Given the description of an element on the screen output the (x, y) to click on. 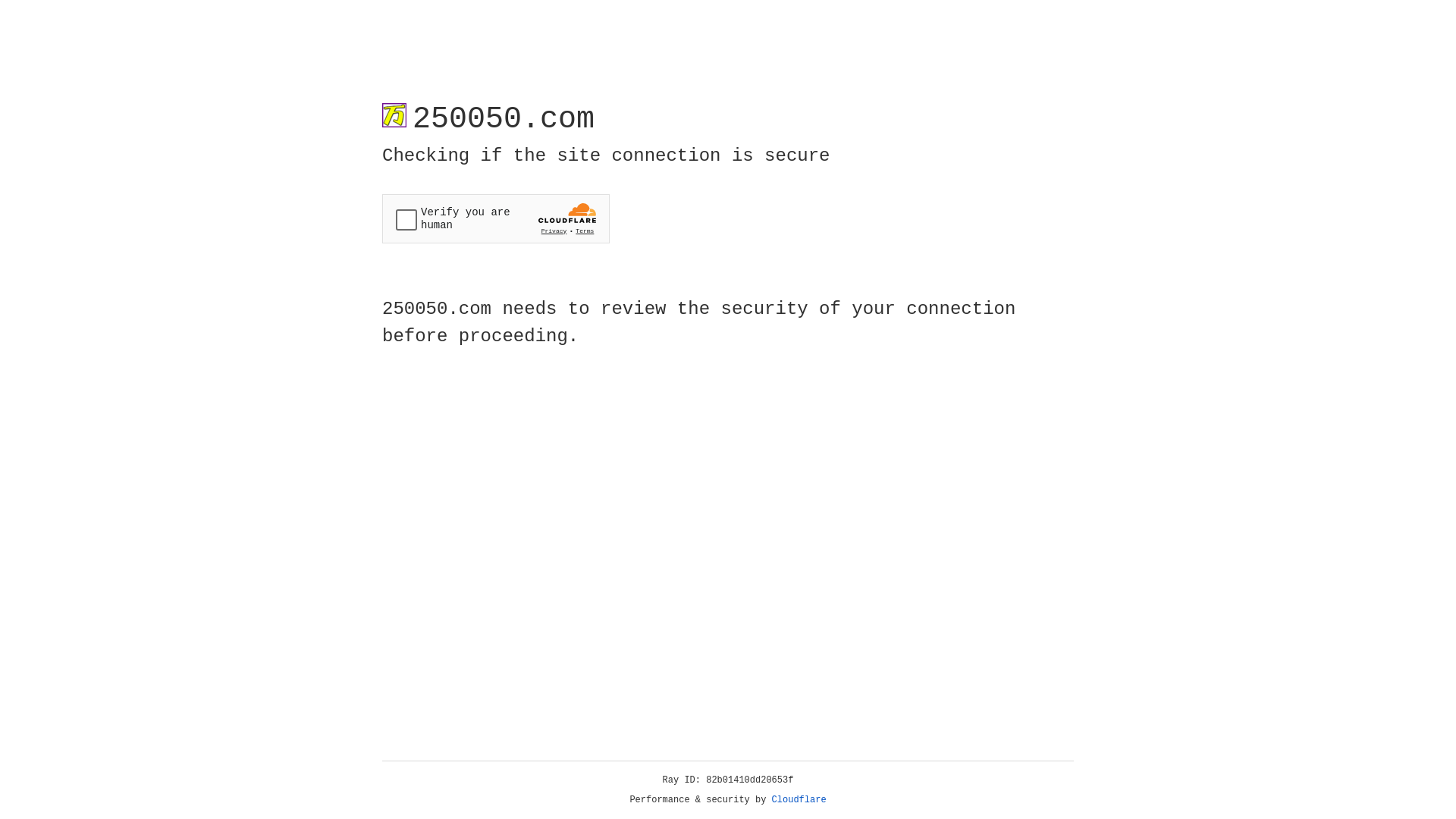
Widget containing a Cloudflare security challenge Element type: hover (495, 218)
Cloudflare Element type: text (798, 799)
